Given the description of an element on the screen output the (x, y) to click on. 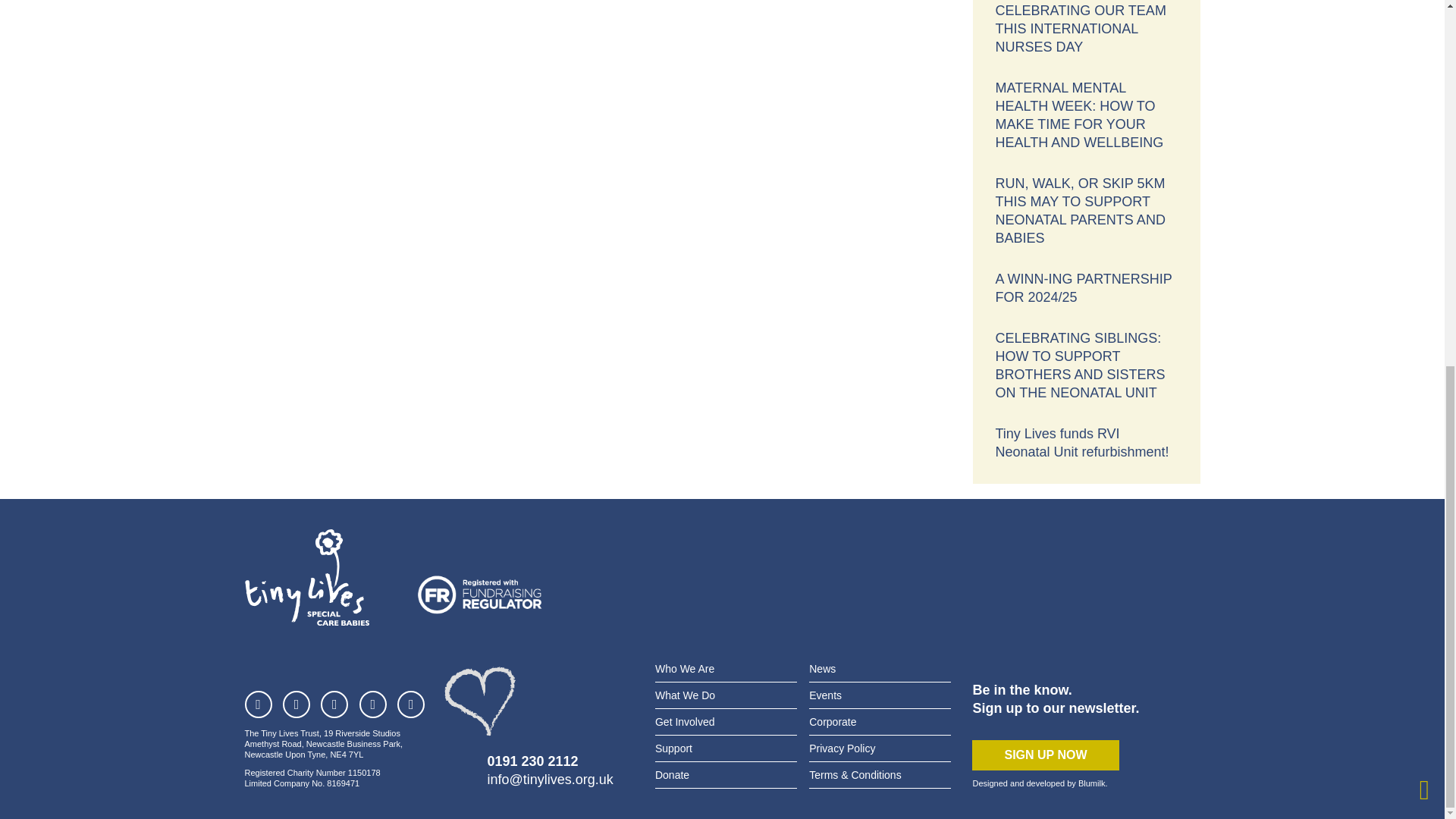
News (822, 669)
CELEBRATING OUR TEAM THIS INTERNATIONAL NURSES DAY (1086, 31)
Corporate (832, 721)
Events (825, 695)
Who We Are (684, 669)
0191 230 2112 (532, 761)
Tiny Lives funds RVI Neonatal Unit refurbishment! (1086, 442)
What We Do (684, 695)
Get Involved (684, 721)
